Given the description of an element on the screen output the (x, y) to click on. 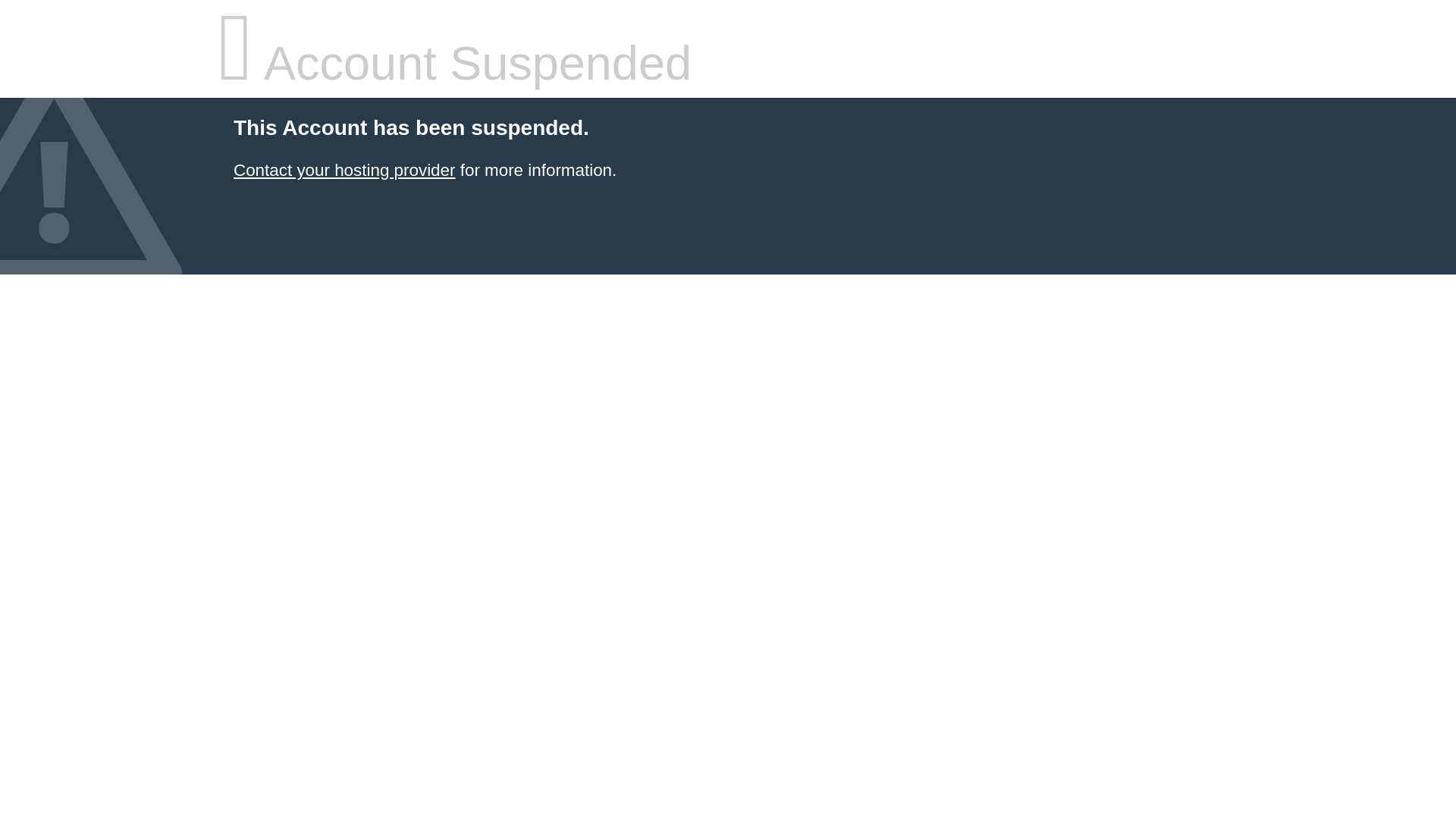
Contact your hosting provider (343, 169)
